Given the description of an element on the screen output the (x, y) to click on. 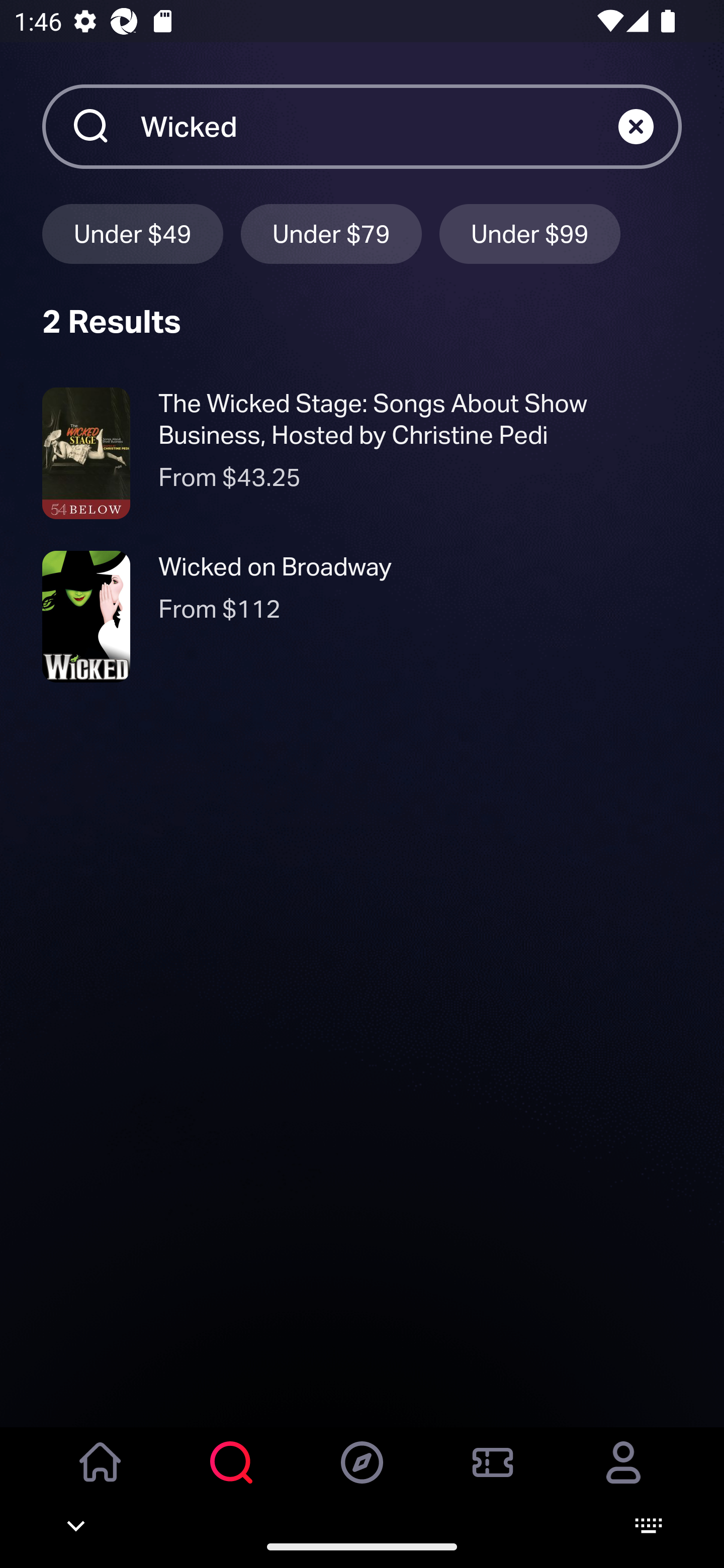
Wicked (379, 126)
Under $49 (131, 233)
Under $79 (331, 233)
Under $99 (529, 233)
Home (100, 1475)
Discover (361, 1475)
Orders (492, 1475)
Account (623, 1475)
